Given the description of an element on the screen output the (x, y) to click on. 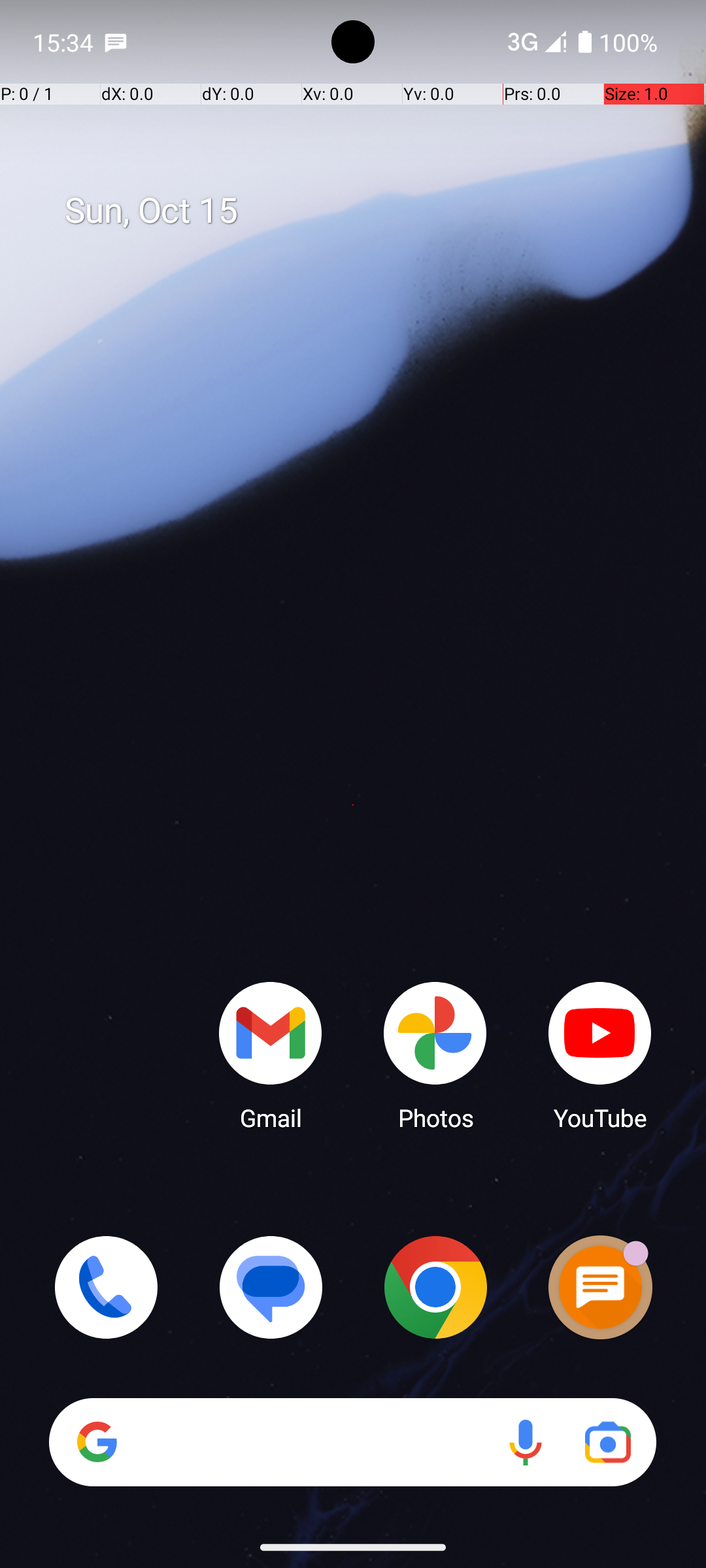
SMS Messenger Element type: android.widget.TextView (599, 1287)
